Given the description of an element on the screen output the (x, y) to click on. 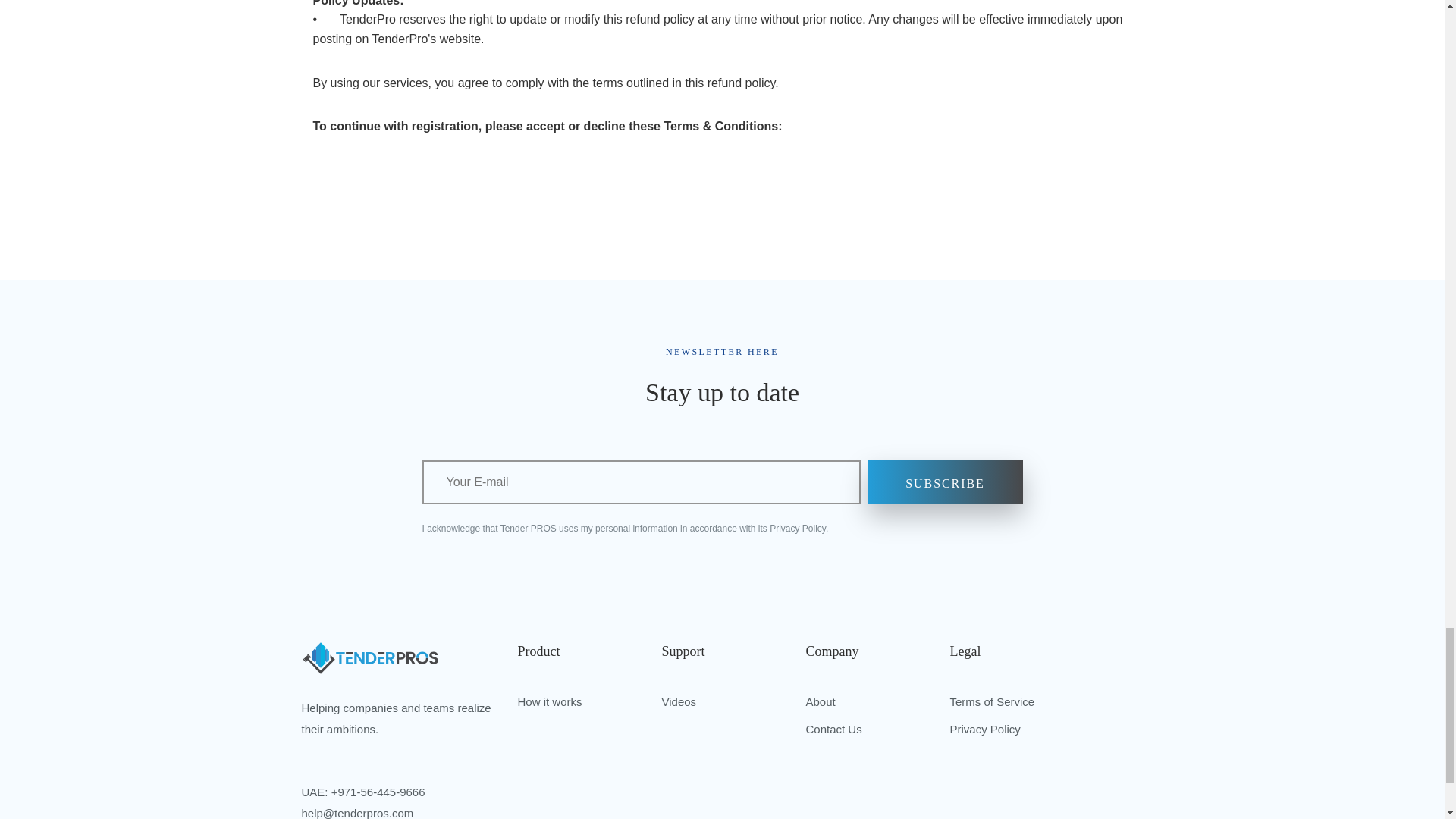
About (819, 701)
How it works (548, 701)
SUBSCRIBE (944, 482)
Contact Us (833, 728)
Videos (678, 701)
Privacy Policy (984, 728)
Terms of Service (991, 701)
